Given the description of an element on the screen output the (x, y) to click on. 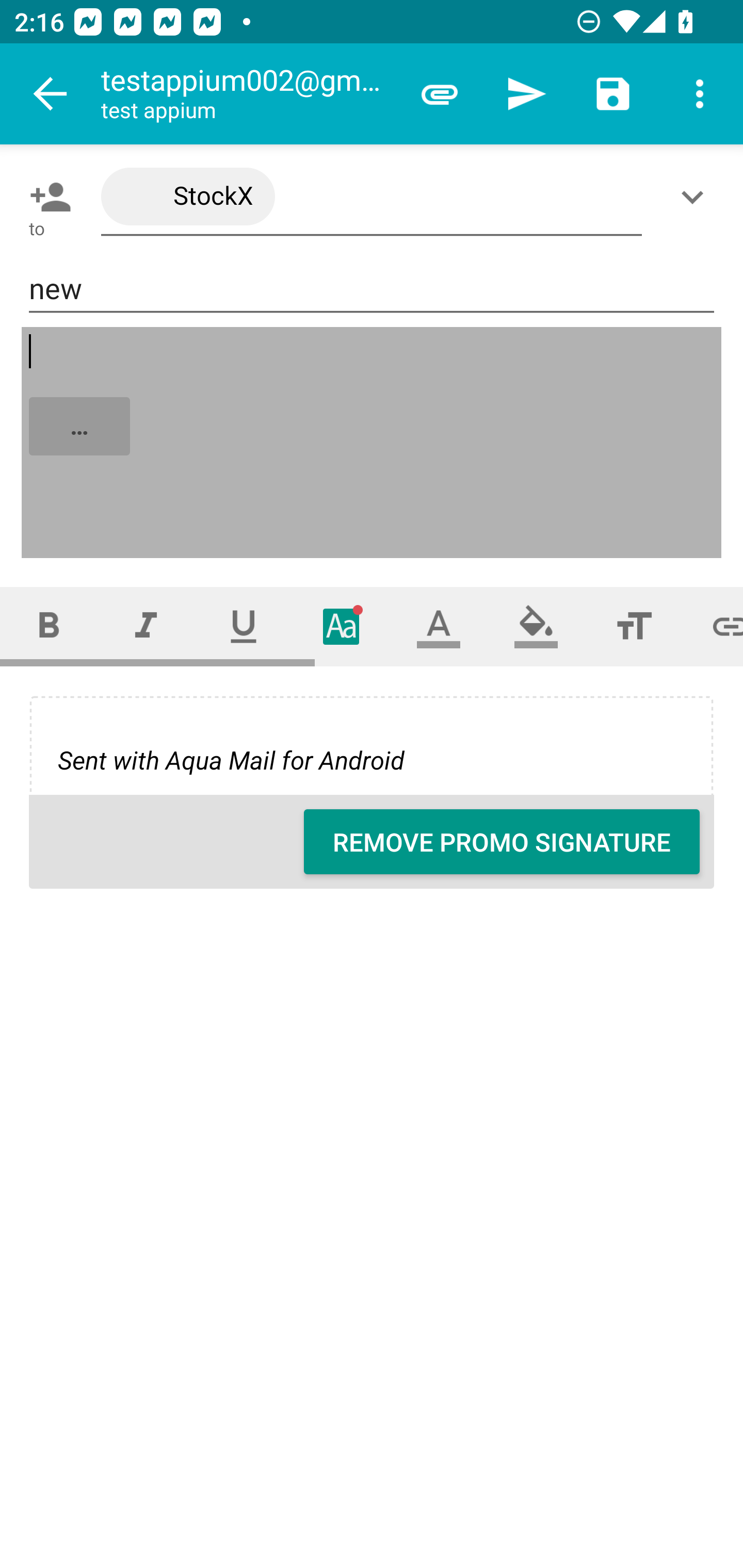
Navigate up (50, 93)
testappium002@gmail.com test appium (248, 93)
Attach (439, 93)
Send (525, 93)
Save (612, 93)
More options (699, 93)
StockX <noreply@stockx.com>,  (371, 197)
Pick contact: To (46, 196)
Show/Add CC/BCC (696, 196)
new (371, 288)

…
 (372, 442)
Bold (48, 626)
Italic (145, 626)
Underline (243, 626)
Typeface (font) (341, 626)
Text color (438, 626)
Fill color (536, 626)
Font size (633, 626)
REMOVE PROMO SIGNATURE (501, 841)
